Given the description of an element on the screen output the (x, y) to click on. 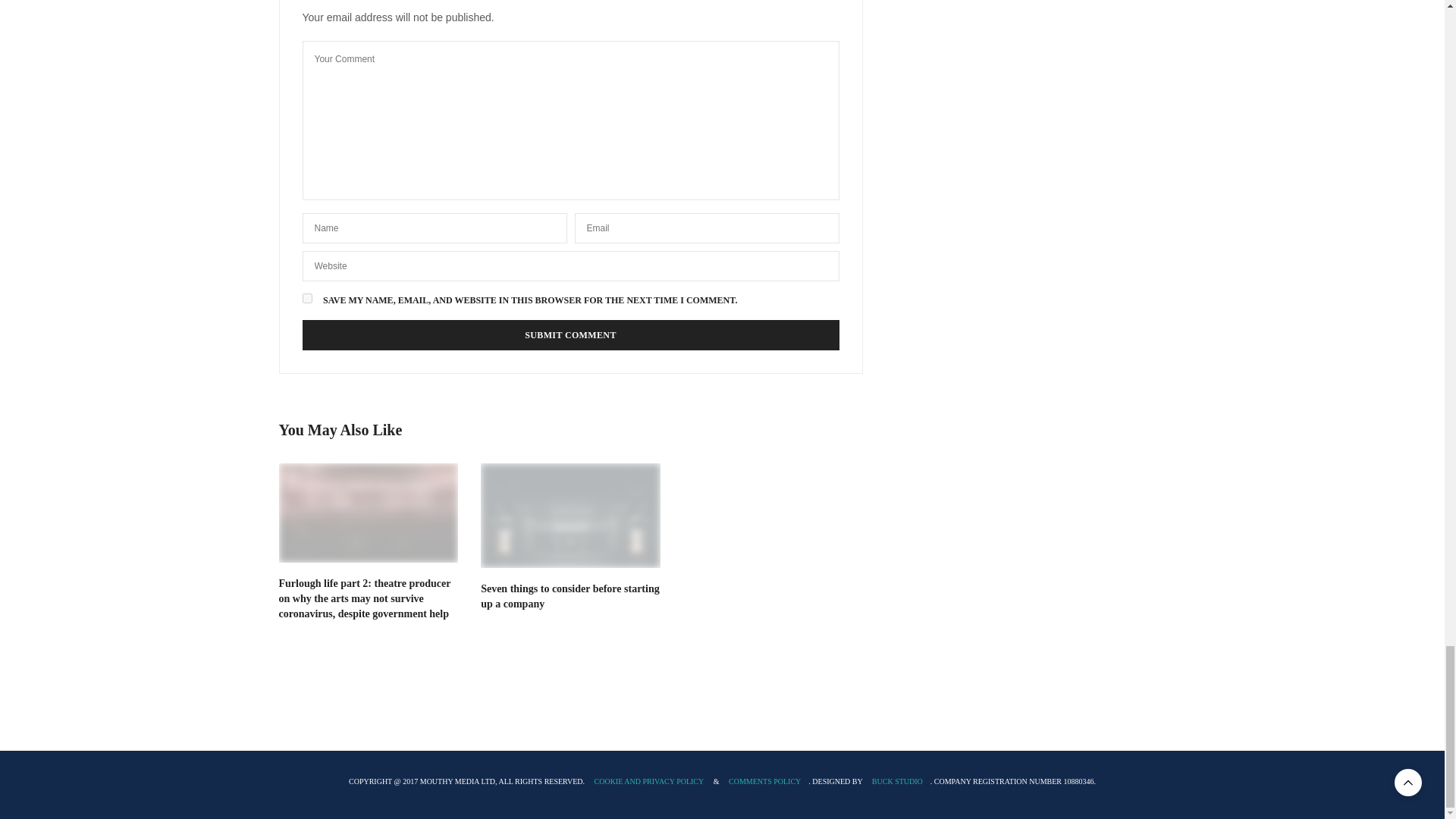
yes (306, 298)
Submit Comment (569, 335)
